Given the description of an element on the screen output the (x, y) to click on. 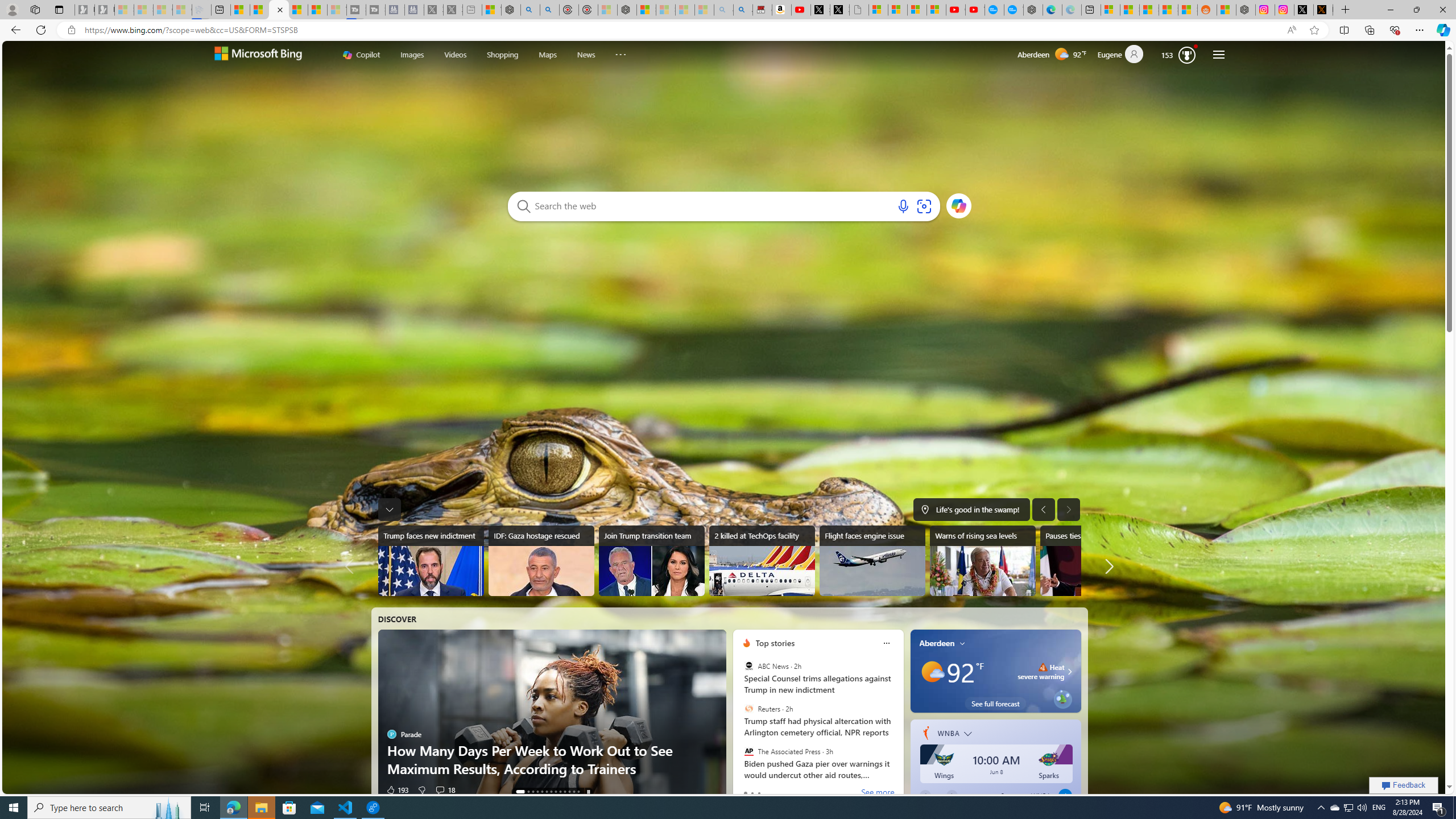
Mostly sunny (931, 671)
View site information (70, 29)
13 Like (395, 789)
Trump faces new indictment (430, 560)
Wings10:00 AMJun 8Sparks (996, 765)
Welcome to Bing Search (257, 54)
